Given the description of an element on the screen output the (x, y) to click on. 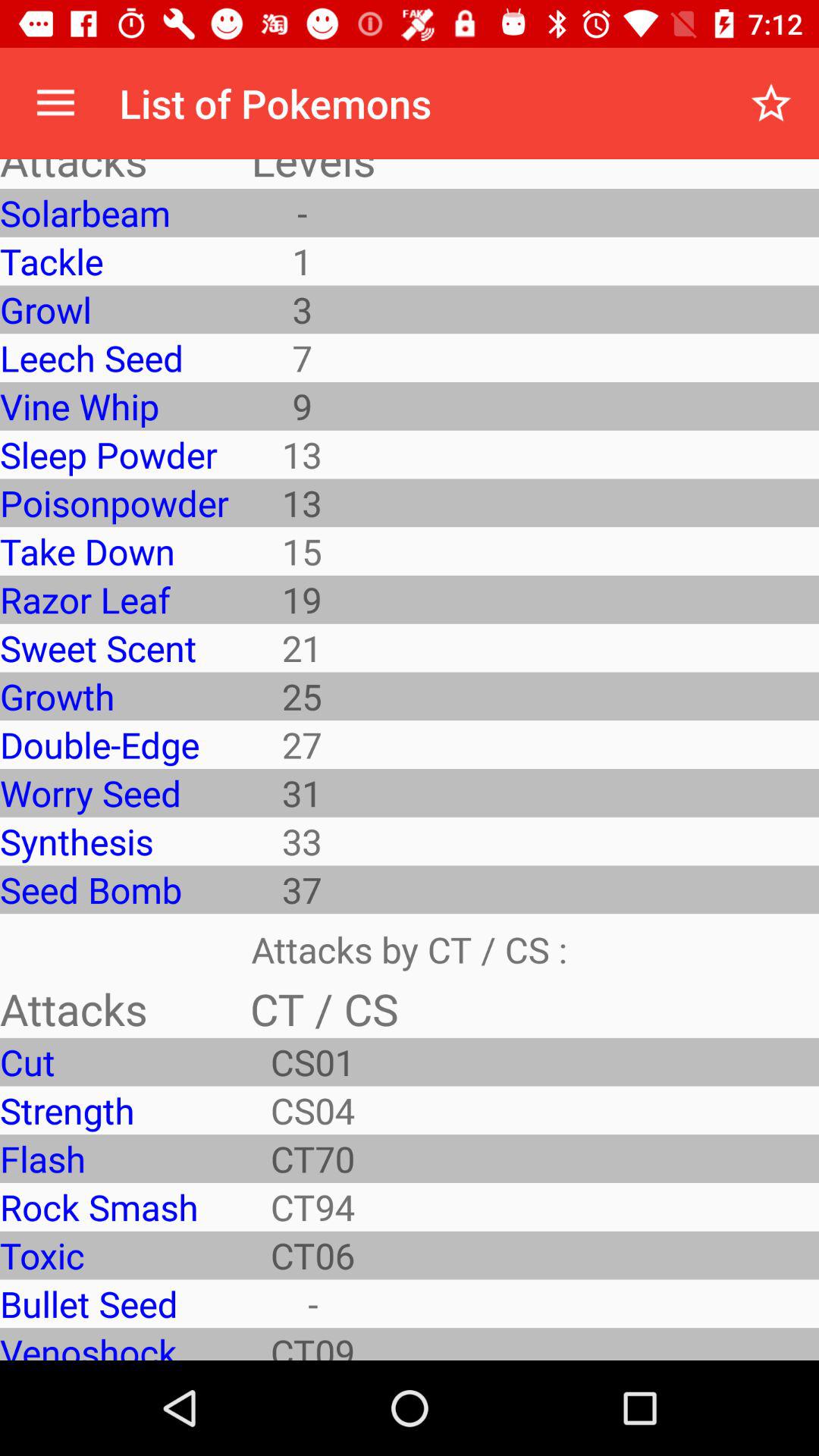
open the item below double-edge icon (114, 792)
